Given the description of an element on the screen output the (x, y) to click on. 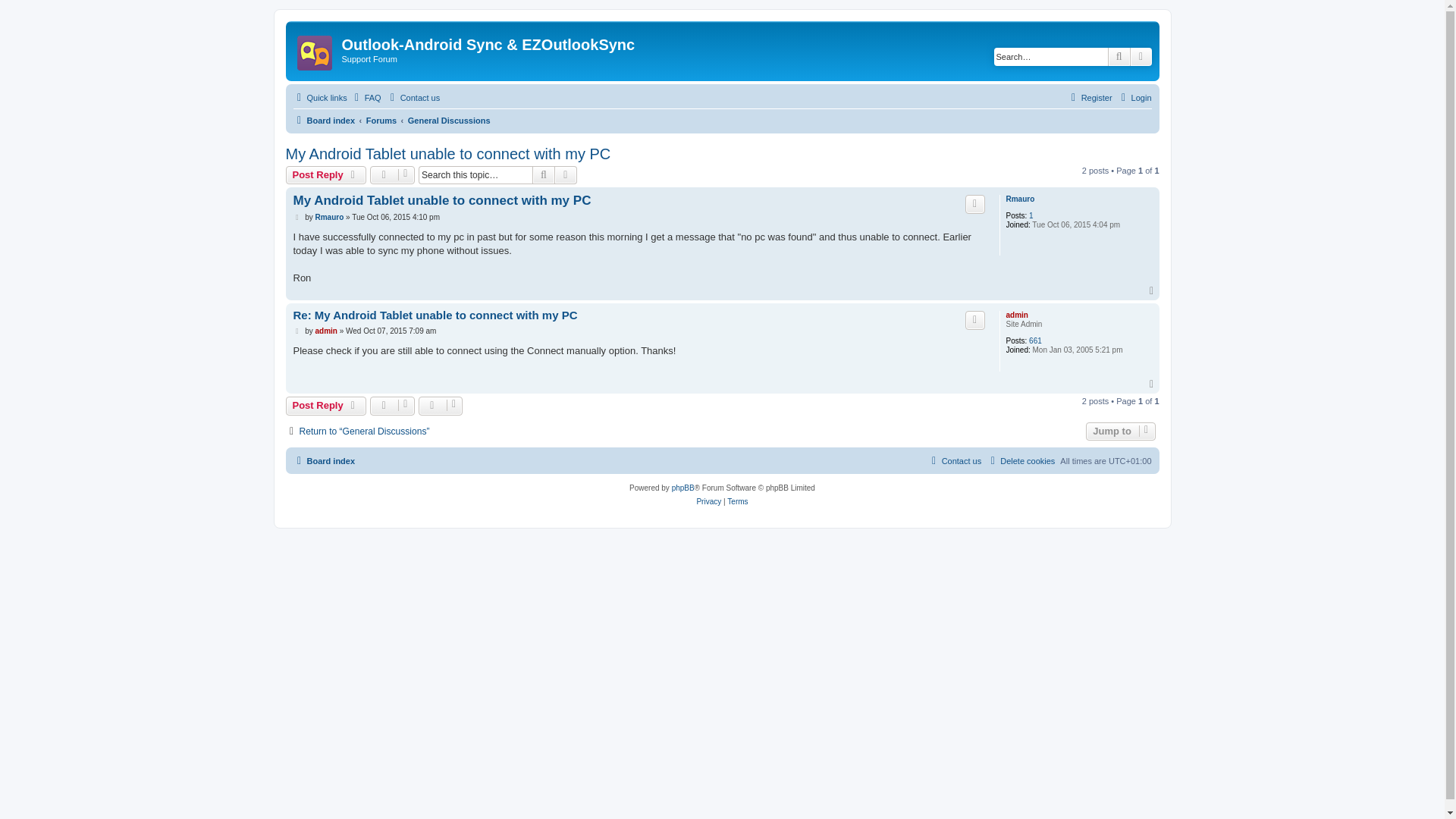
Board index (323, 120)
Advanced search (565, 175)
Search (1119, 56)
Advanced search (1141, 56)
Advanced search (1141, 56)
Rmauro (1019, 198)
Top (1151, 384)
Board index (315, 48)
Search (543, 175)
Advanced search (565, 175)
Forums (381, 120)
Topic tools (391, 175)
Register (1089, 97)
General Discussions (448, 120)
Frequently Asked Questions (365, 97)
